Given the description of an element on the screen output the (x, y) to click on. 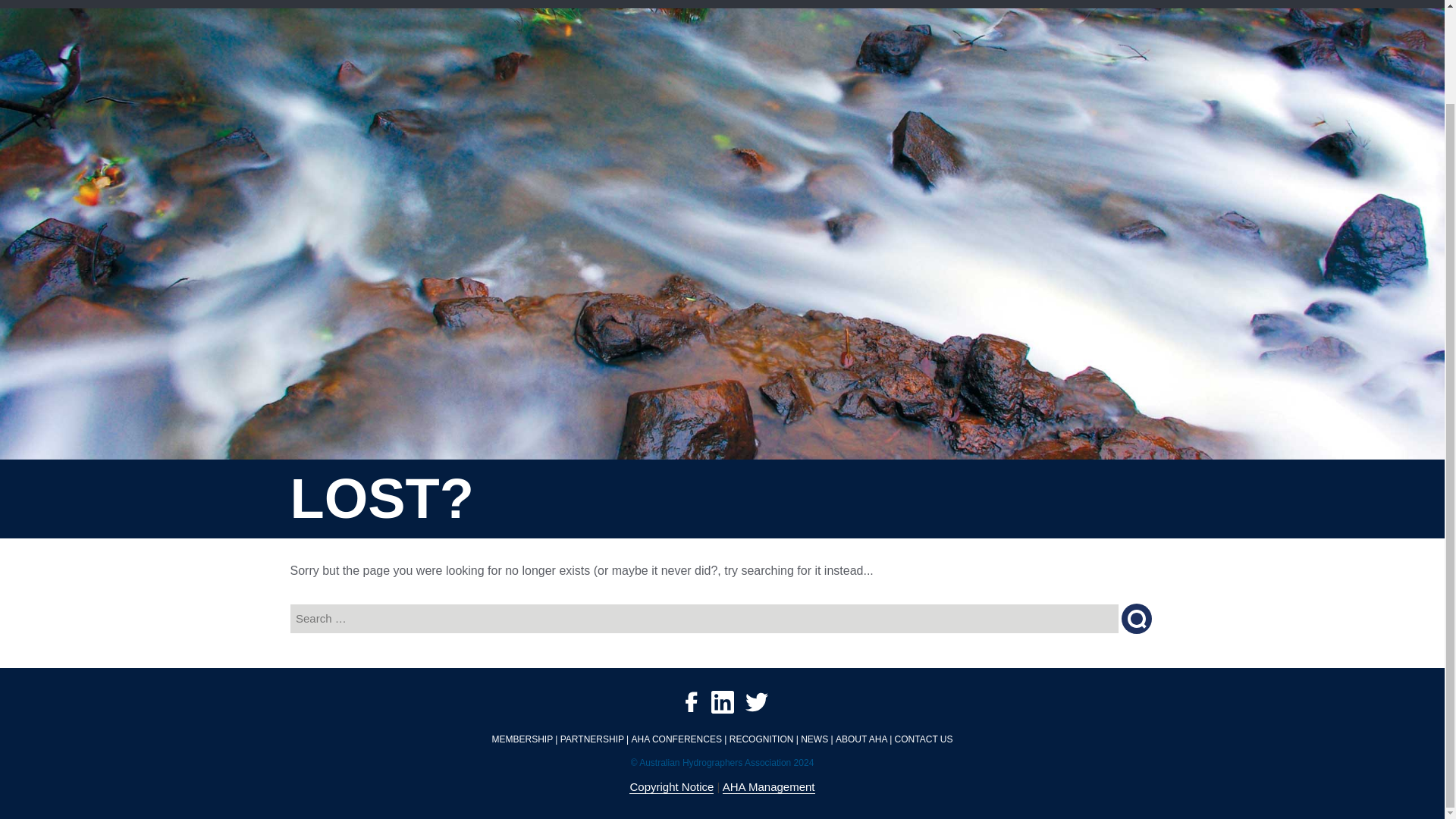
MEMBERSHIP (396, 4)
Search (1136, 618)
HOME (317, 4)
PARTNERSHIPS (501, 4)
Search (1136, 618)
RECOGNITION (754, 4)
TRAINING (665, 4)
EVENTS (591, 4)
